Given the description of an element on the screen output the (x, y) to click on. 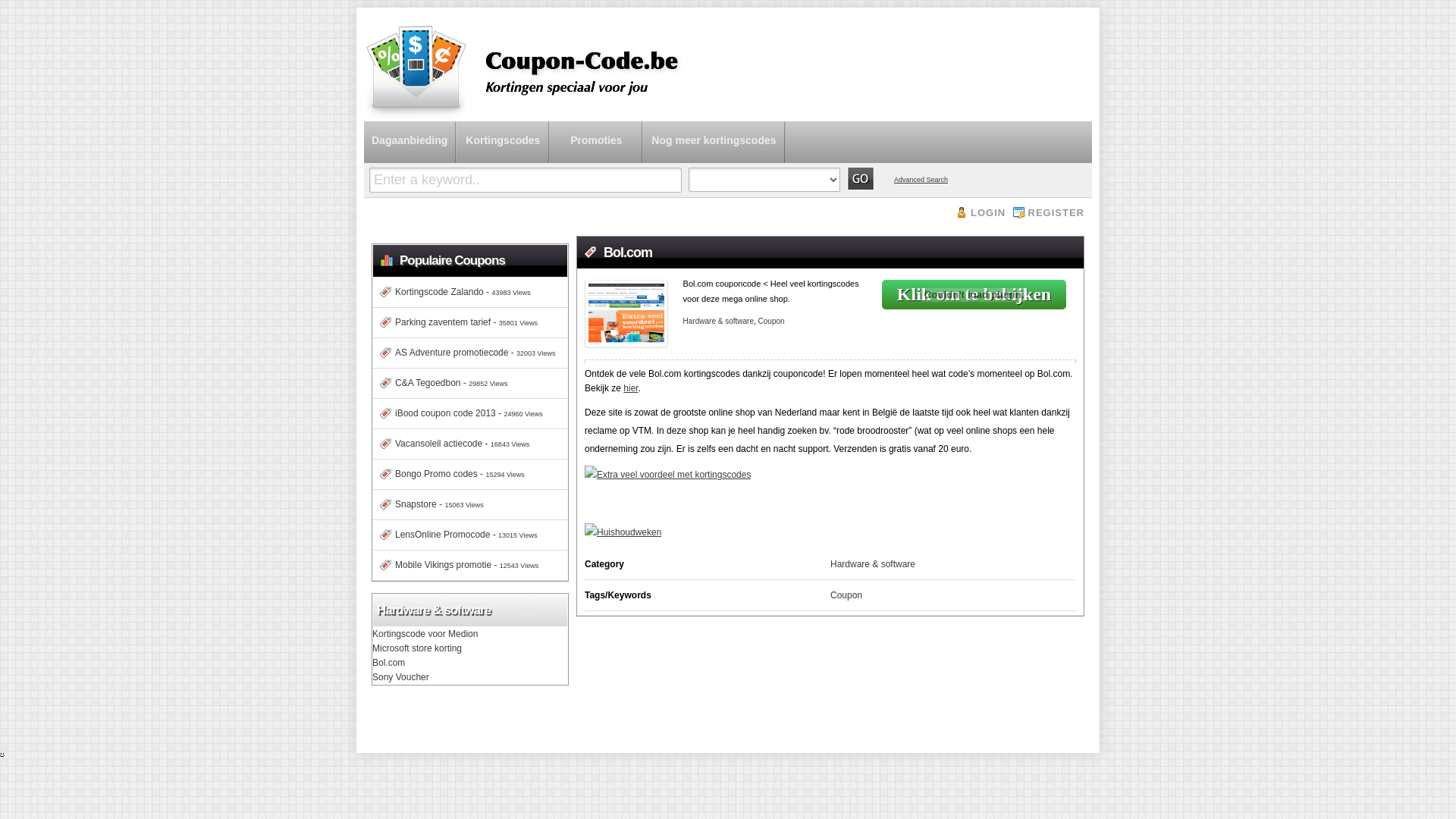
Kortingscodes Element type: text (502, 133)
AS Adventure promotiecode - 32003 Views Element type: text (463, 352)
Mobile Vikings promotie - 12543 Views Element type: text (455, 564)
C&A Tegoedbon - 29852 Views Element type: text (440, 382)
Coupon Element type: text (846, 594)
Kortingscode Zalando - 43983 Views Element type: text (451, 291)
Sony Voucher Element type: text (400, 676)
Hardware & software Element type: text (872, 563)
Snapstore - 15063 Views Element type: text (427, 503)
Microsoft store korting Element type: text (416, 648)
Promoties Element type: text (595, 133)
REGISTER Element type: text (1048, 212)
Coupon Code Element type: hover (532, 115)
Bongo Promo codes - 15294 Views Element type: text (448, 473)
Parking zaventem tarief - 35801 Views Element type: text (454, 321)
Coupon Element type: text (771, 320)
Advanced Search Element type: text (920, 175)
Bol.com Element type: text (388, 662)
LOGIN Element type: text (980, 212)
Dagaanbieding Element type: text (409, 133)
Nog meer kortingscodes Element type: text (713, 133)
iBood coupon code 2013 - 24960 Views Element type: text (457, 412)
Vacansoleil actiecode - 16843 Views Element type: text (450, 443)
  Element type: text (863, 178)
LensOnline Promocode - 13015 Views Element type: text (454, 534)
Hardware & software Element type: text (718, 320)
hier Element type: text (630, 387)
Kortingscode voor Medion Element type: text (424, 633)
